Given the description of an element on the screen output the (x, y) to click on. 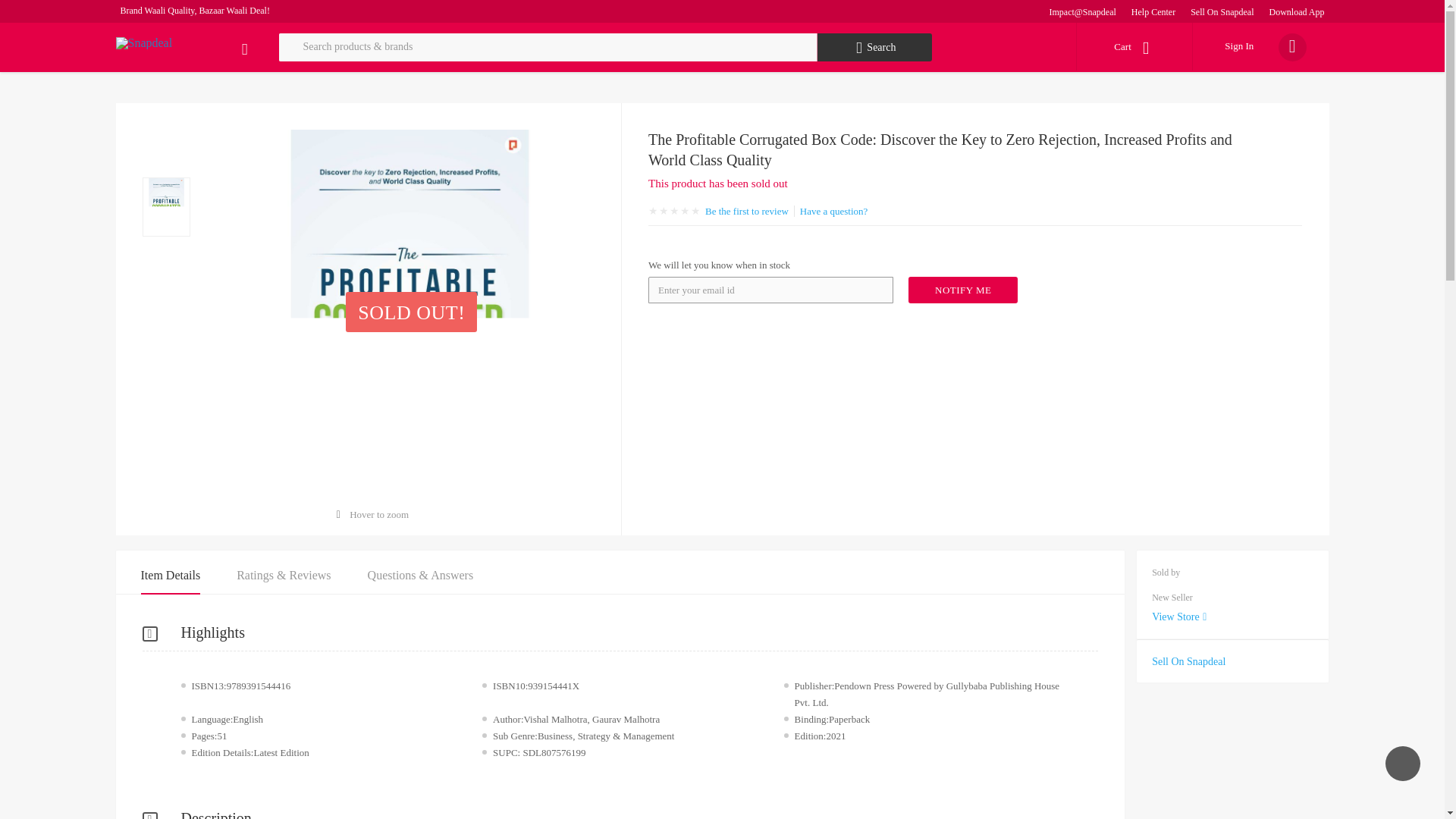
Download App (1296, 11)
635834279689 (962, 289)
Help Center (1152, 11)
Sell On Snapdeal (1222, 11)
Search (874, 47)
Snapdeal (143, 42)
